Given the description of an element on the screen output the (x, y) to click on. 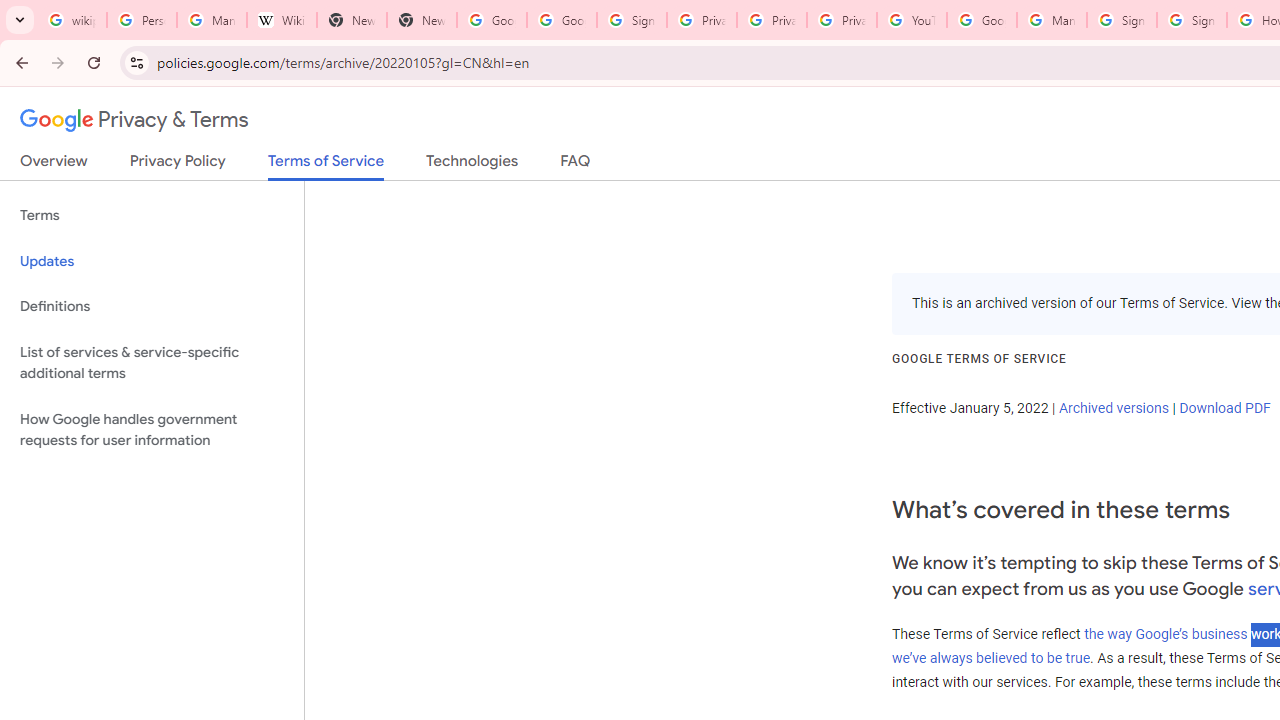
Wikipedia:Edit requests - Wikipedia (282, 20)
Google Account Help (982, 20)
YouTube (911, 20)
Definitions (152, 306)
Archived versions (1113, 407)
